Given the description of an element on the screen output the (x, y) to click on. 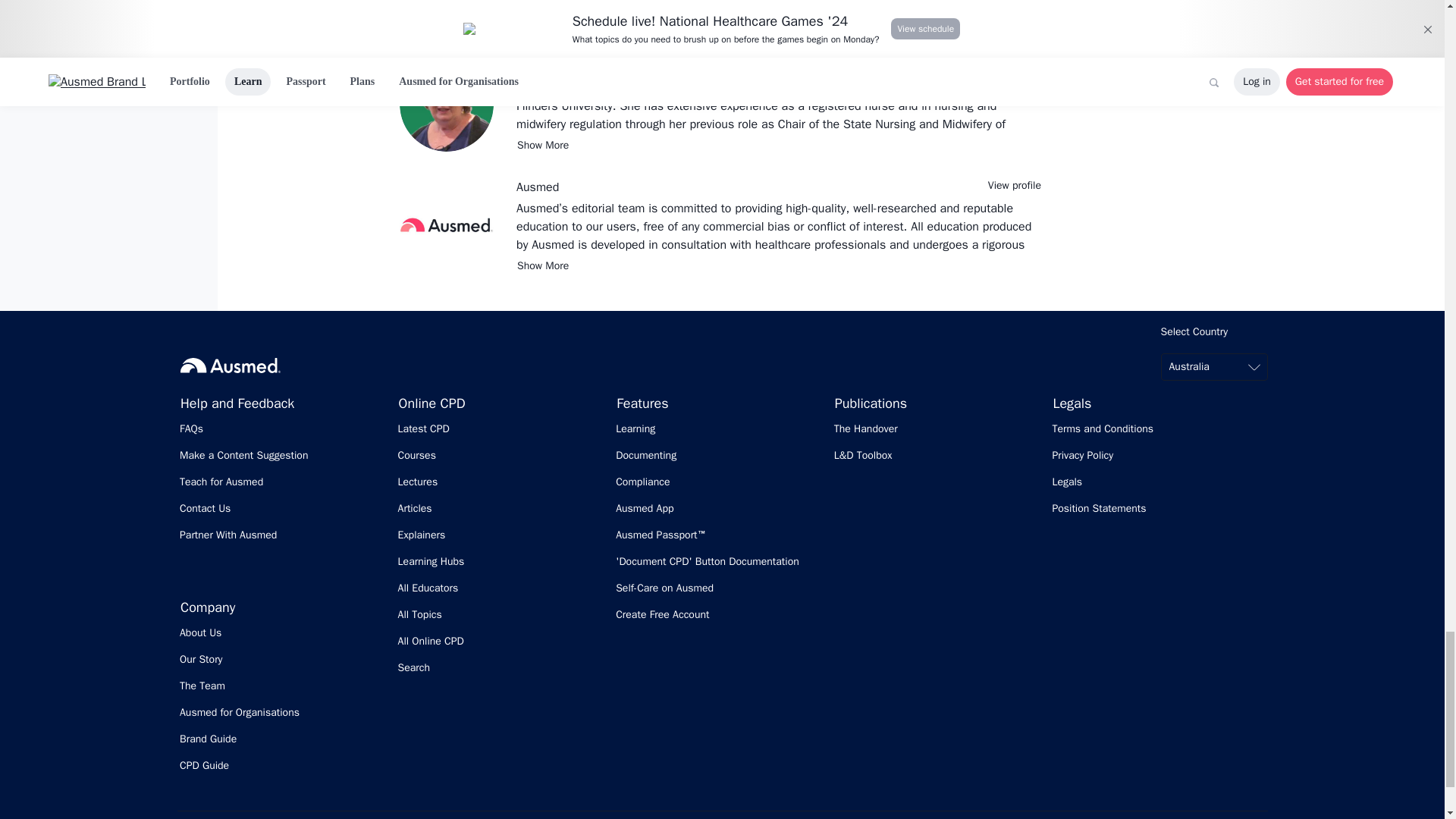
Ausmed Home (230, 364)
Linda Starr (544, 66)
